Given the description of an element on the screen output the (x, y) to click on. 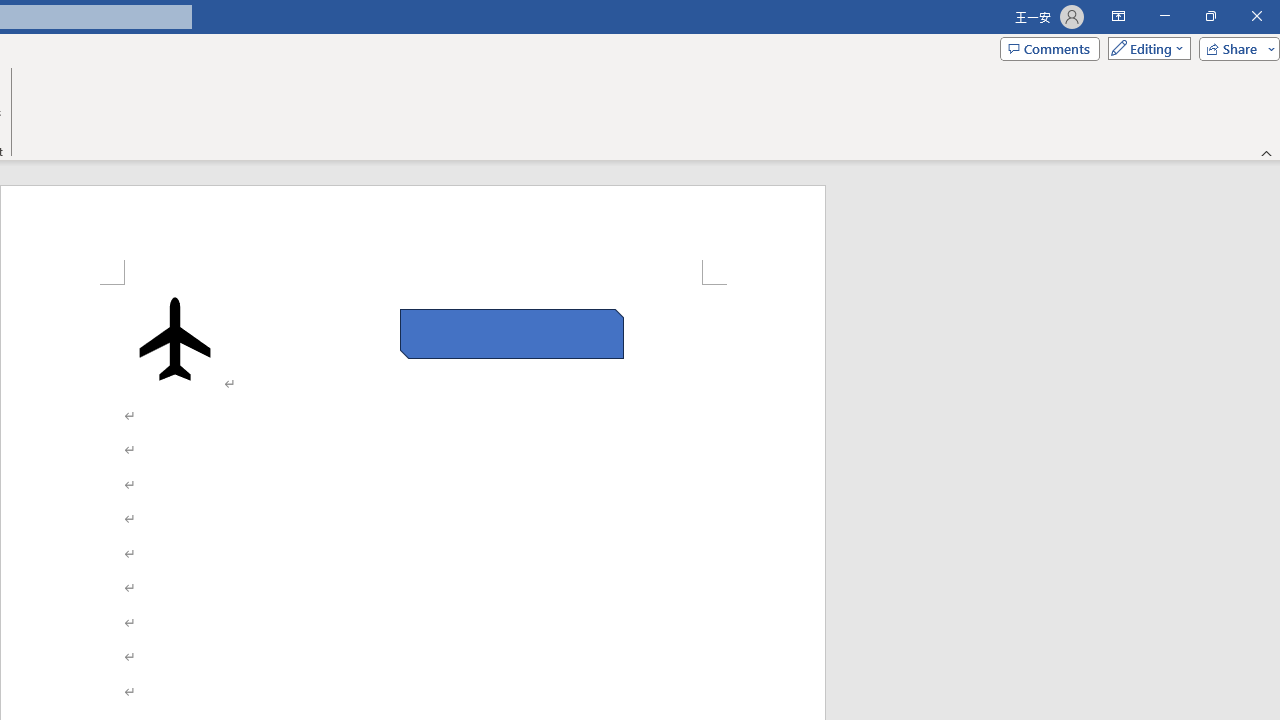
Airplane with solid fill (175, 338)
Editing (1144, 47)
Rectangle: Diagonal Corners Snipped 2 (511, 333)
